Given the description of an element on the screen output the (x, y) to click on. 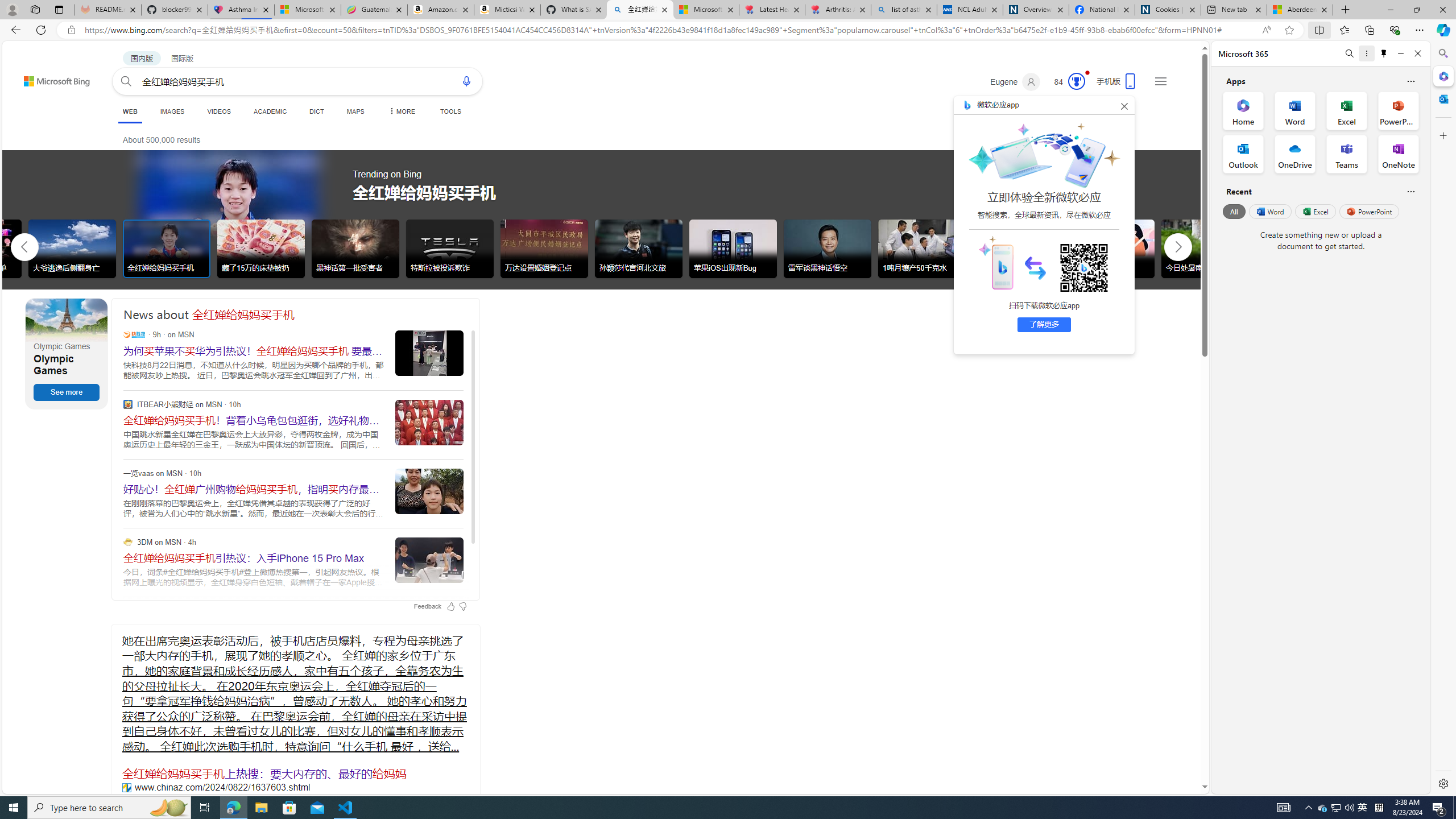
3DM on MSN (127, 541)
Class: rms_img (994, 262)
Feedback Like (450, 605)
ACADEMIC (269, 111)
All (1233, 210)
